Given the description of an element on the screen output the (x, y) to click on. 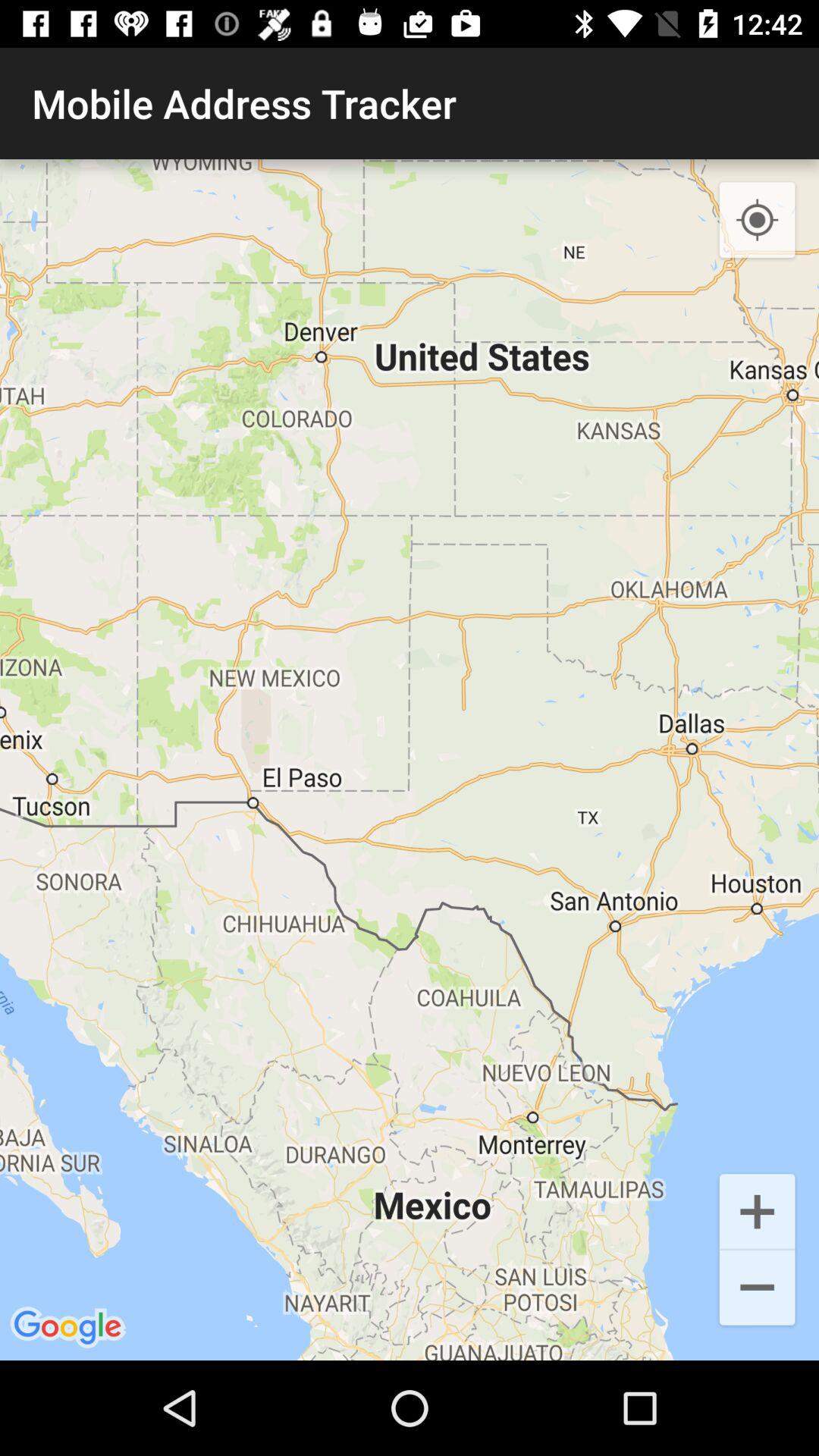
open the item below mobile address tracker (409, 759)
